Given the description of an element on the screen output the (x, y) to click on. 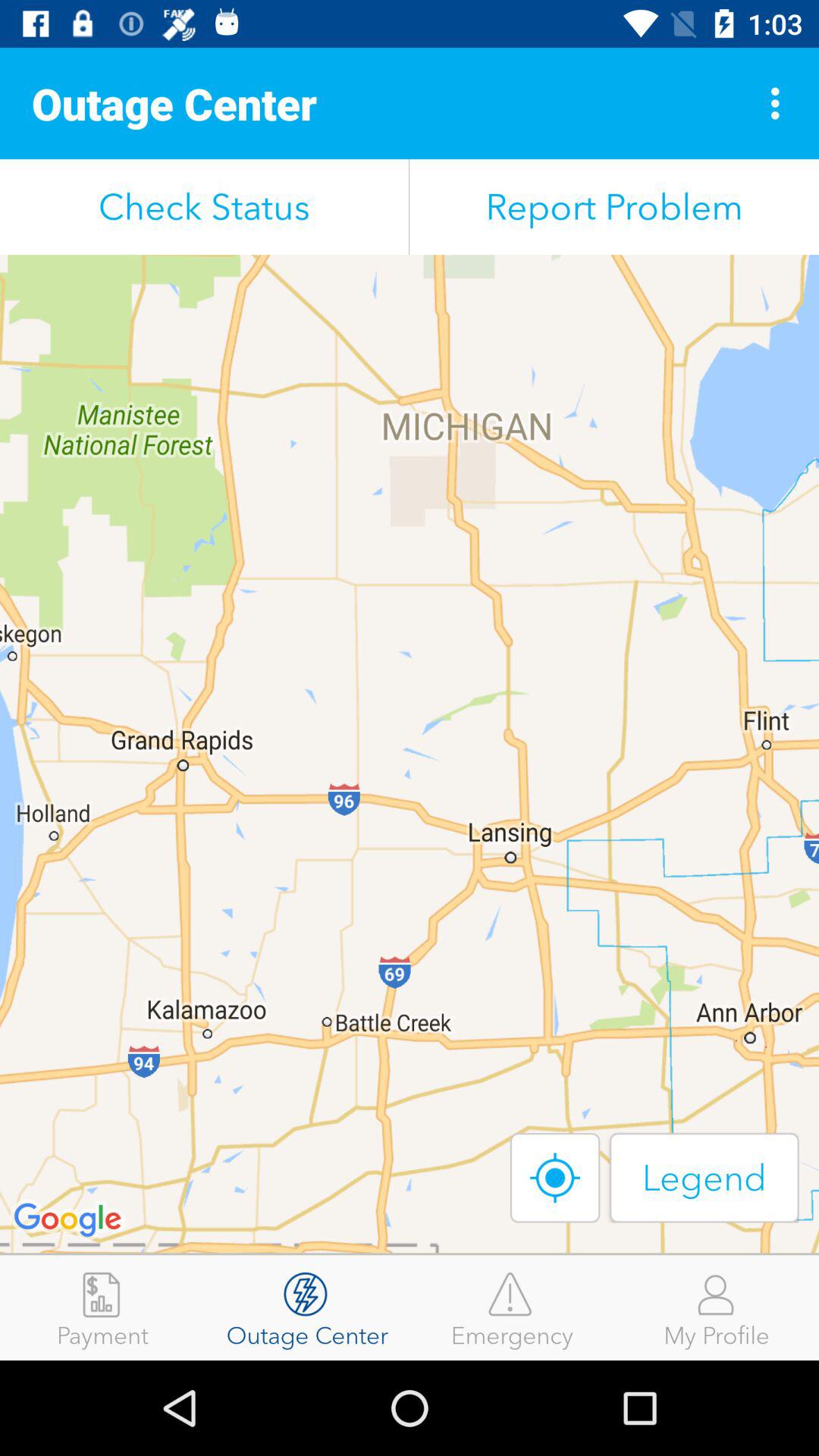
jump to legend item (704, 1177)
